Given the description of an element on the screen output the (x, y) to click on. 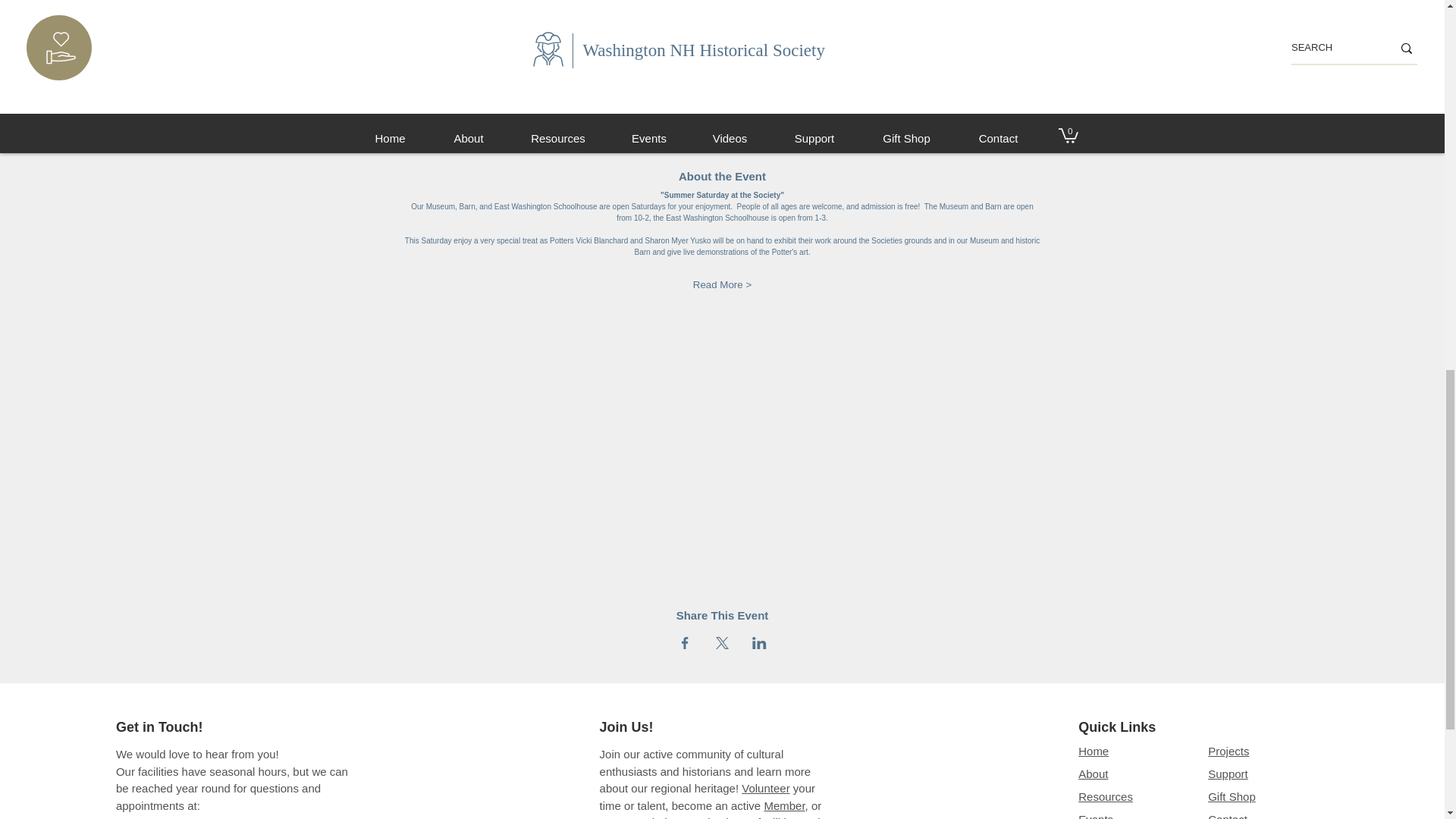
Volunteer (765, 788)
Member (783, 805)
